Given the description of an element on the screen output the (x, y) to click on. 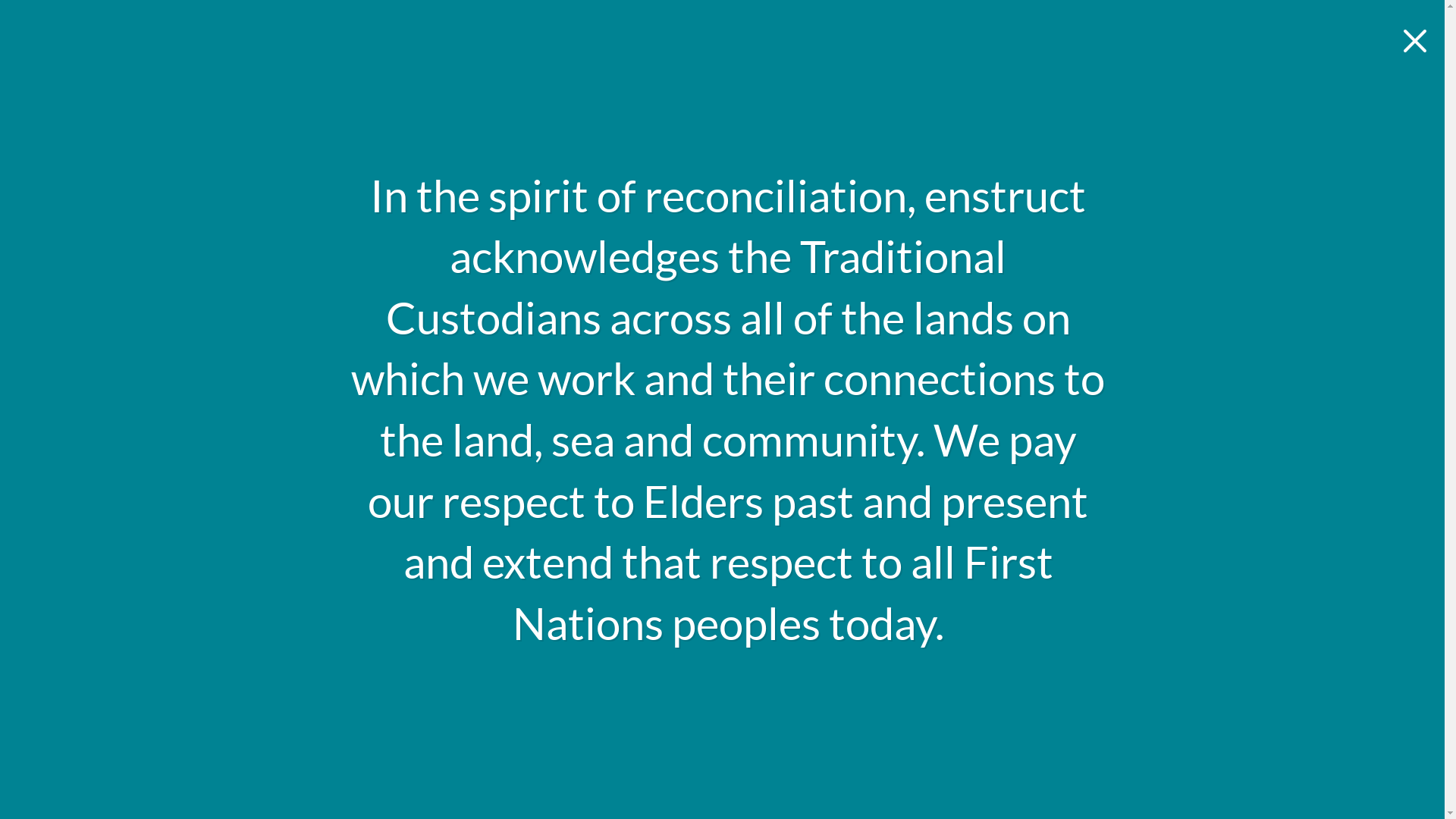
People Element type: text (720, 83)
Profile Element type: text (518, 83)
Careers Element type: text (907, 83)
News Element type: text (812, 83)
Staff Promotions
01.07.2023 Element type: text (918, 548)
Three CTBUH Awards!
23.10.2023 Element type: text (524, 548)
Home Element type: text (425, 83)
Another Win for Meadowbank!
11.09.2023 Element type: text (721, 548)
Contact Element type: text (1011, 83)
Projects Element type: text (619, 83)
